Given the description of an element on the screen output the (x, y) to click on. 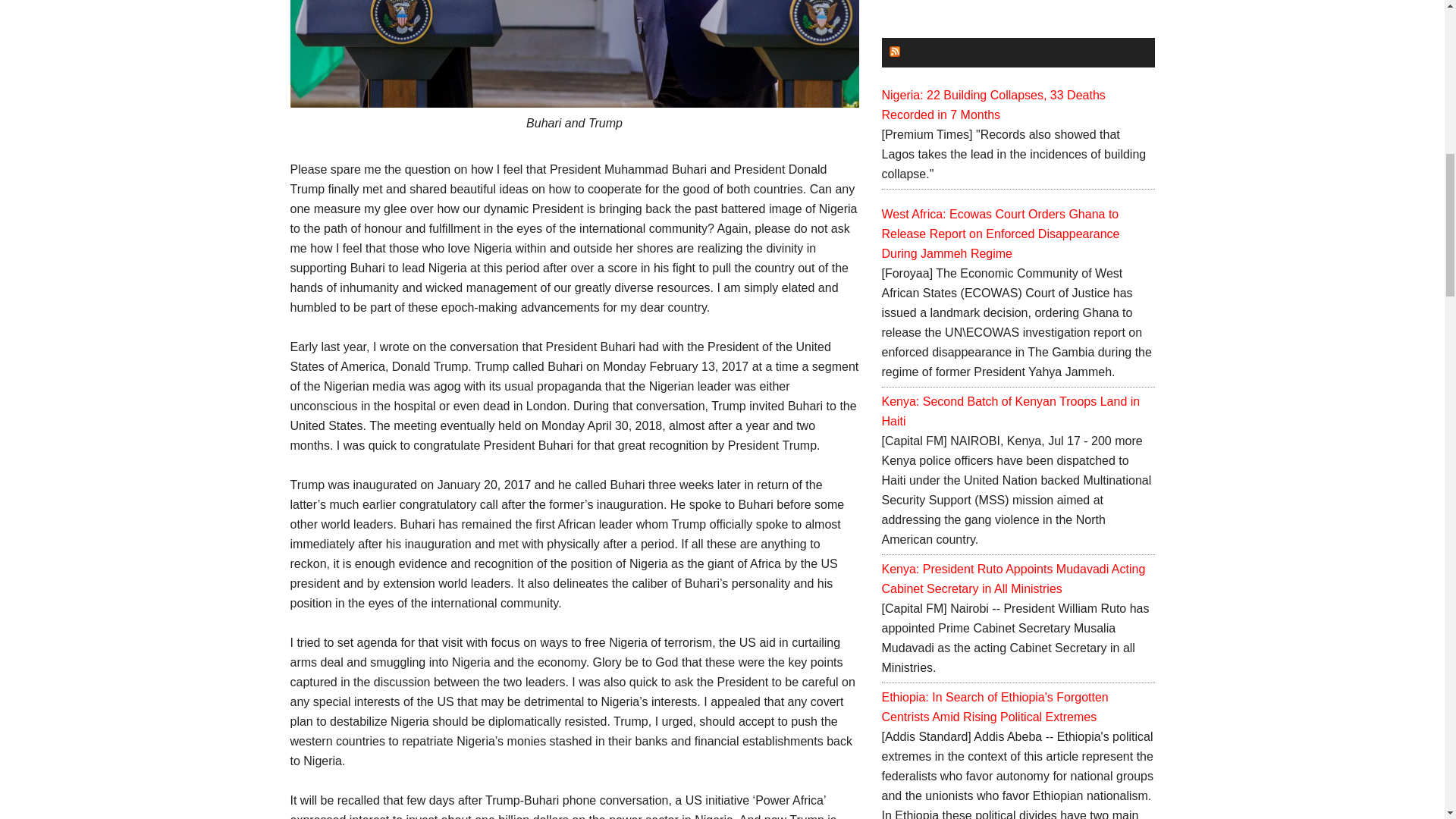
ALLAFRICA NEWS: LATEST (980, 51)
